Given the description of an element on the screen output the (x, y) to click on. 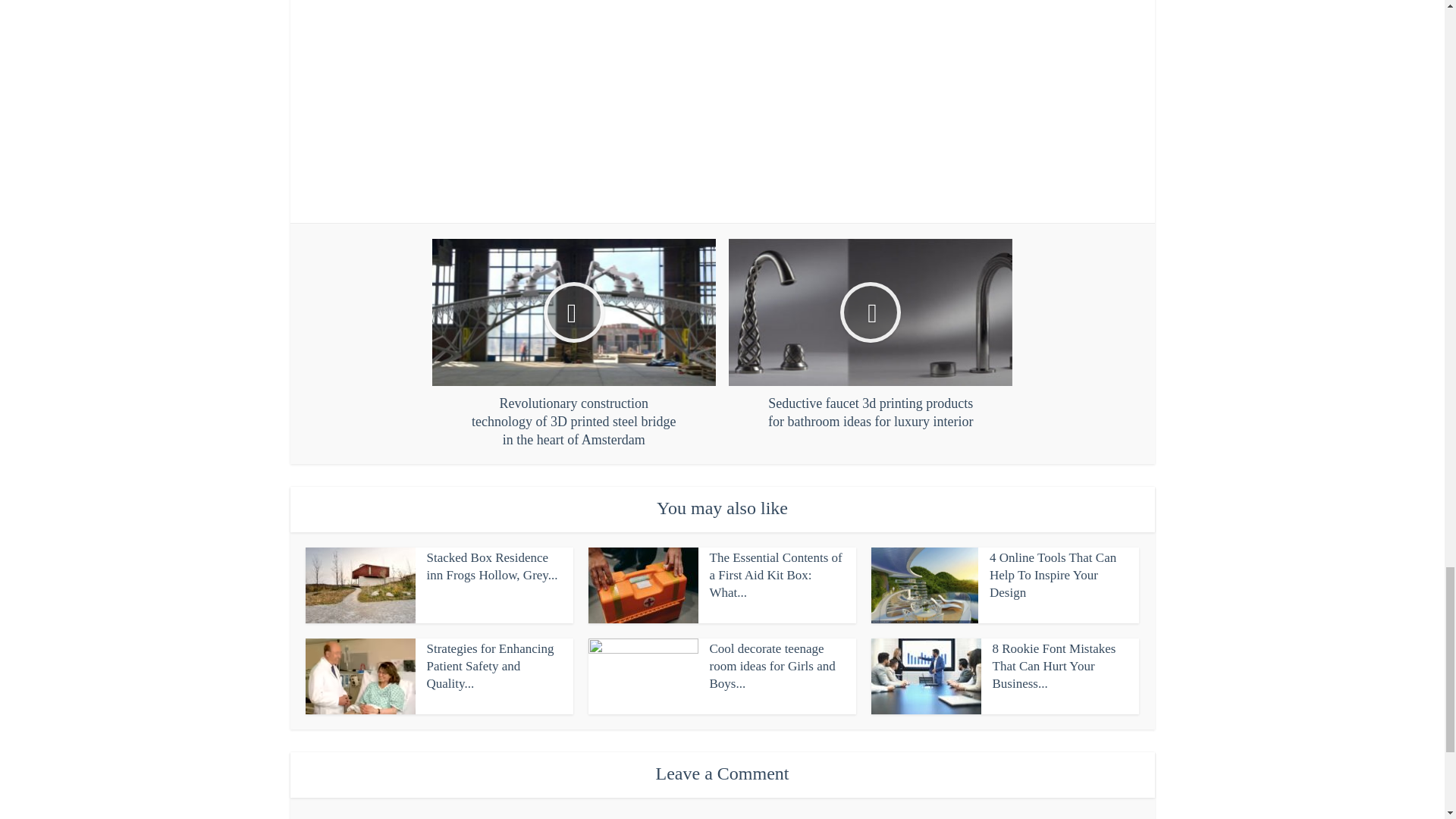
Stacked Box Residence inn Frogs Hollow, Grey... (491, 566)
4 Online Tools That Can Help To Inspire Your Design (1053, 574)
8 Rookie Font Mistakes That Can Hurt Your Business... (1053, 666)
Strategies for Enhancing Patient Safety and Quality... (489, 666)
The Essential Contents of a First Aid Kit Box: What... (776, 574)
